Given the description of an element on the screen output the (x, y) to click on. 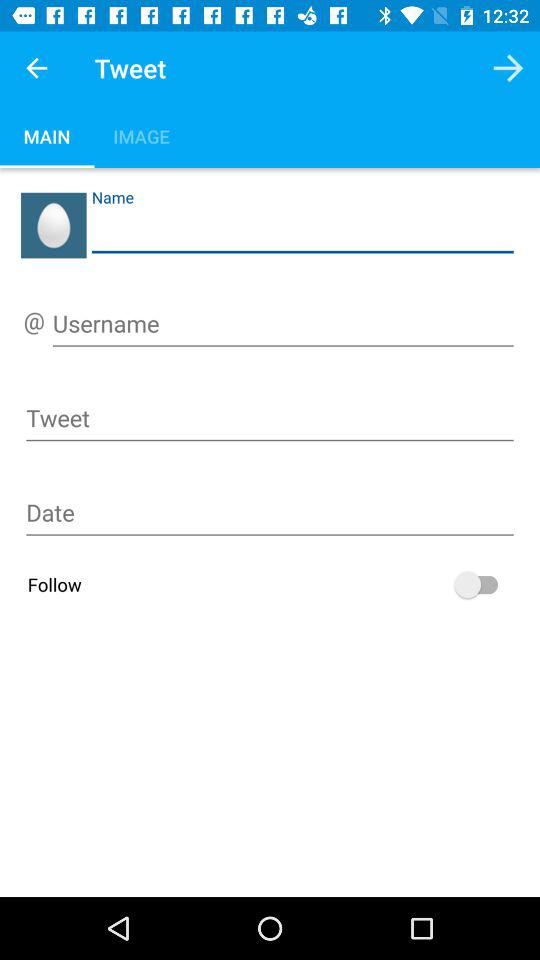
enter the username (283, 327)
